Given the description of an element on the screen output the (x, y) to click on. 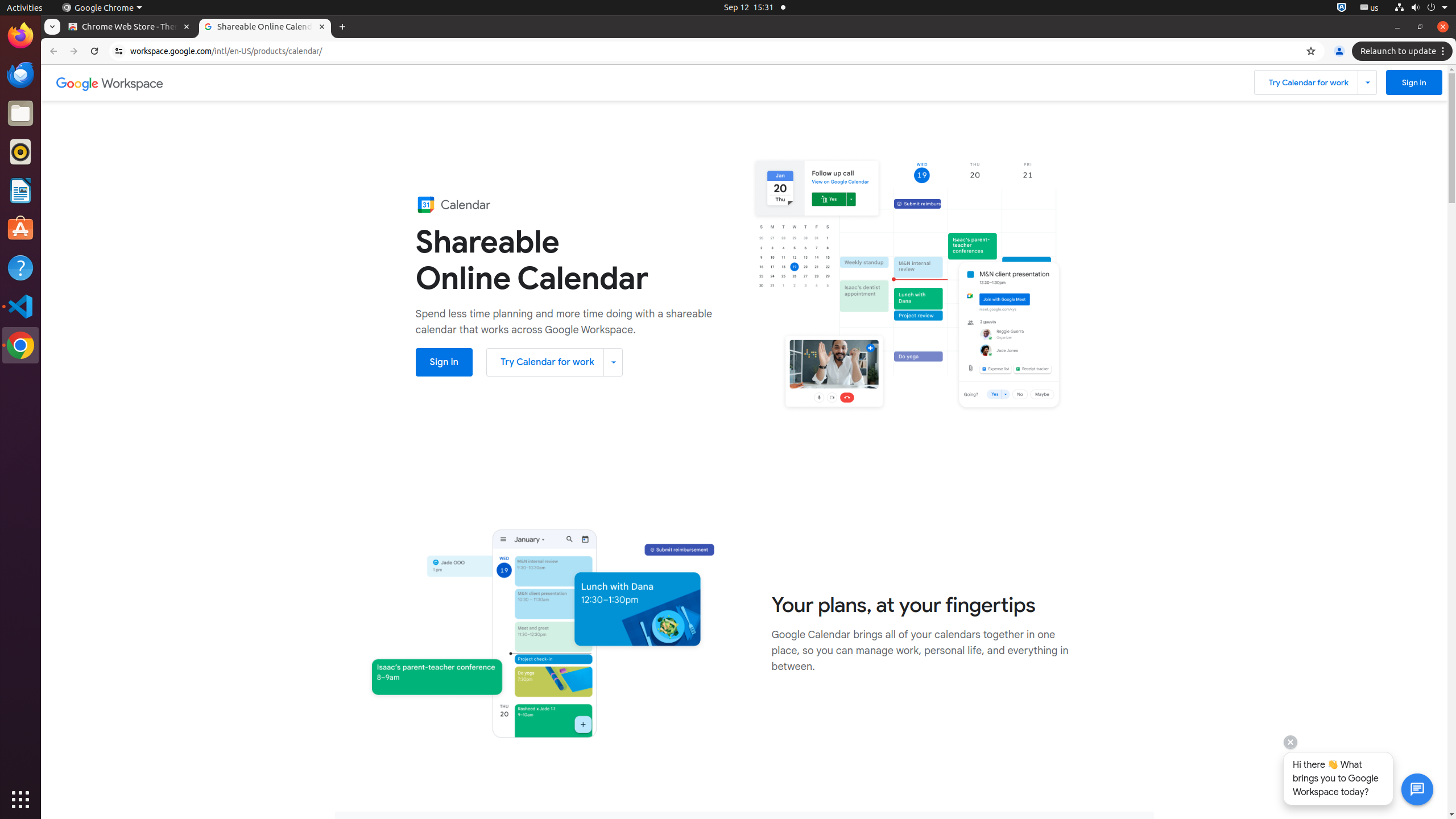
Thunderbird Mail Element type: push-button (20, 74)
Reload Element type: push-button (94, 50)
Shareable Online Calendar and Scheduling - Google Calendar Element type: page-tab (264, 26)
Forward Element type: push-button (73, 50)
Bookmark this tab Element type: push-button (1310, 51)
